Given the description of an element on the screen output the (x, y) to click on. 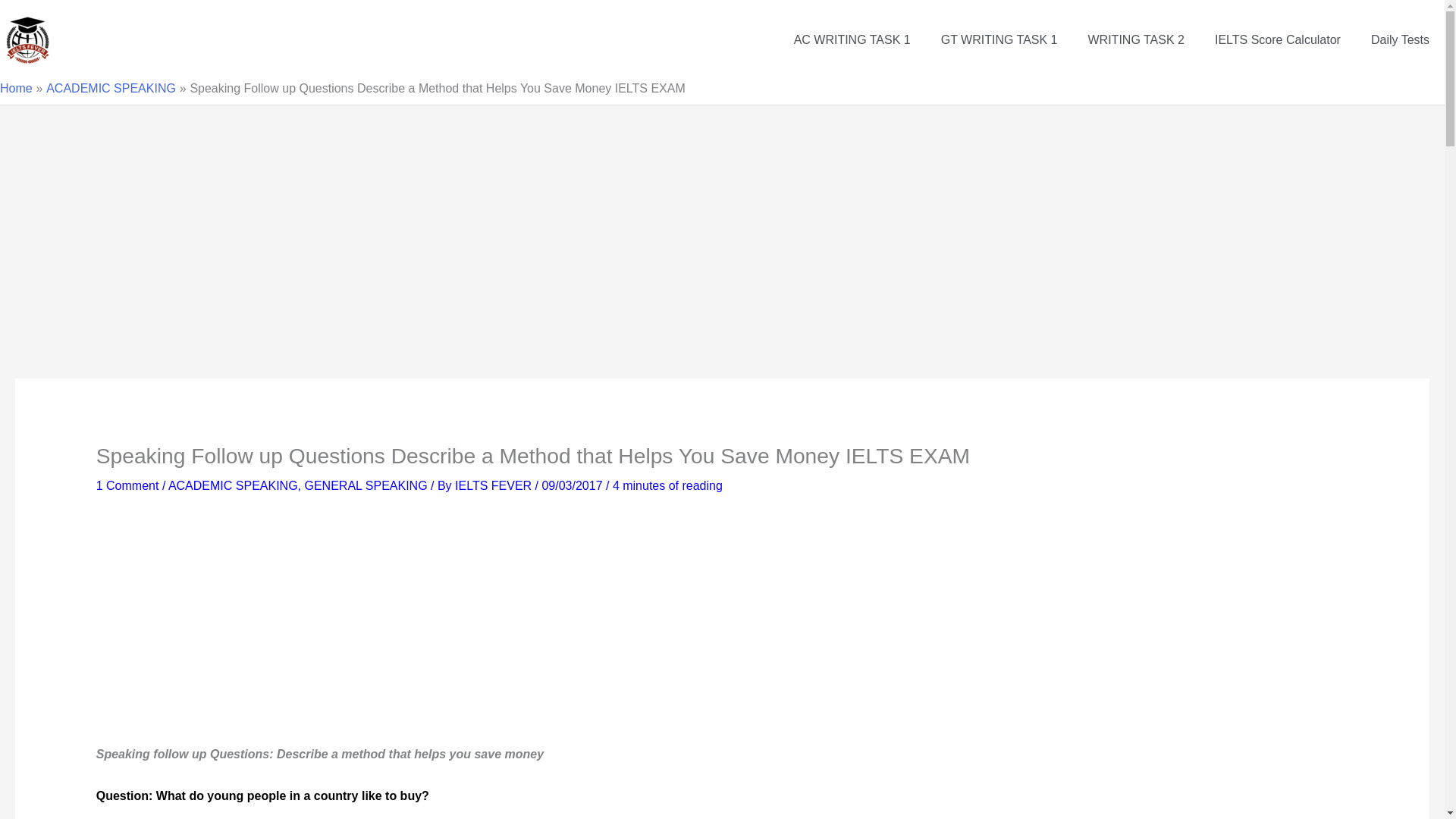
ACADEMIC SPEAKING (111, 88)
IELTS FEVER (494, 485)
GENERAL SPEAKING (365, 485)
AC WRITING TASK 1 (852, 39)
GT WRITING TASK 1 (999, 39)
Advertisement (351, 630)
WRITING TASK 2 (1136, 39)
1 Comment (127, 485)
IELTS Score Calculator (1277, 39)
Home (16, 88)
ACADEMIC SPEAKING (233, 485)
View all posts by IELTS FEVER (494, 485)
